Given the description of an element on the screen output the (x, y) to click on. 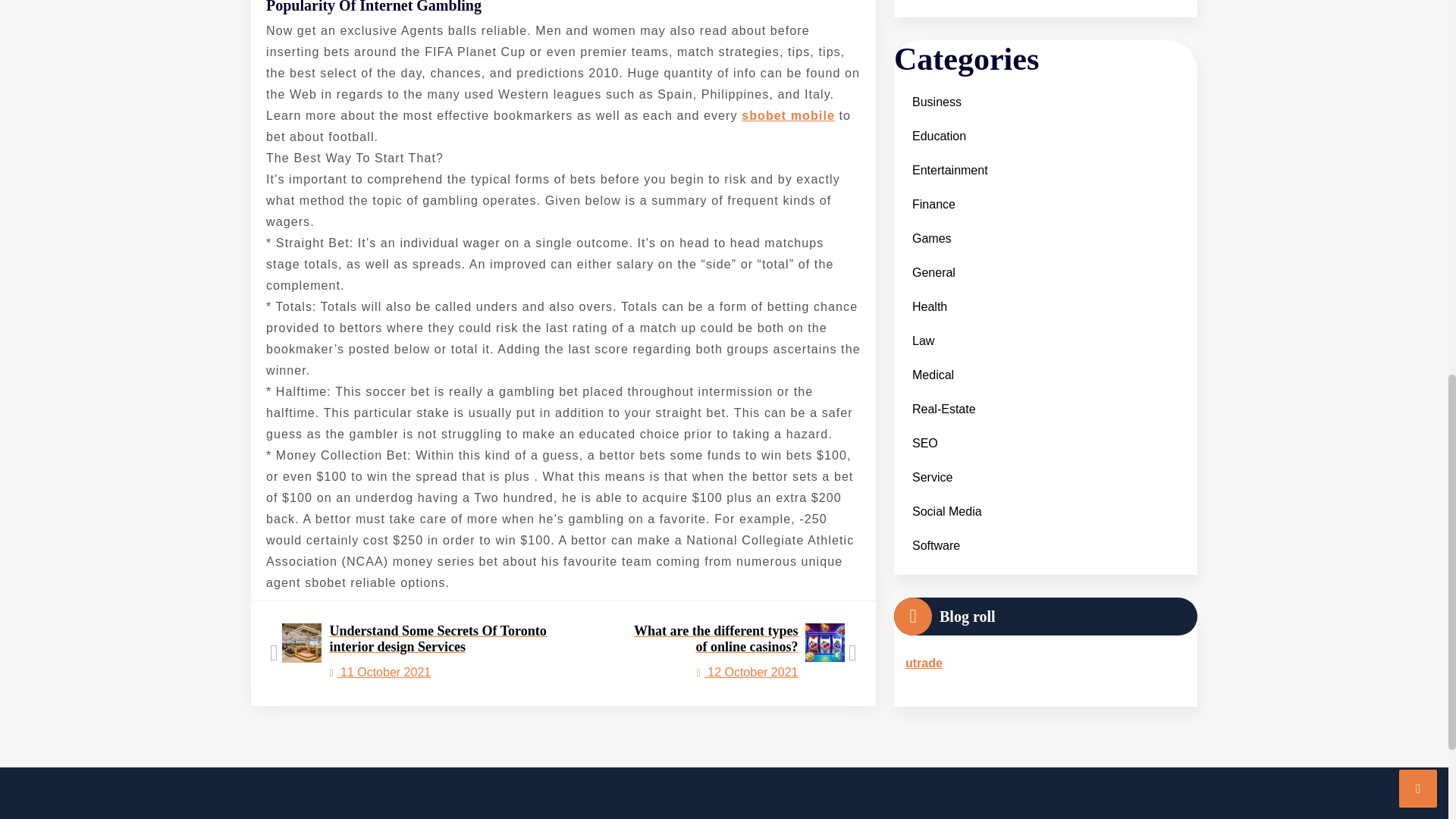
Education (938, 31)
sbobet mobile (787, 115)
Finance (933, 99)
Business (935, 5)
Entertainment (949, 66)
Games (931, 134)
Health (929, 202)
General (933, 168)
